Given the description of an element on the screen output the (x, y) to click on. 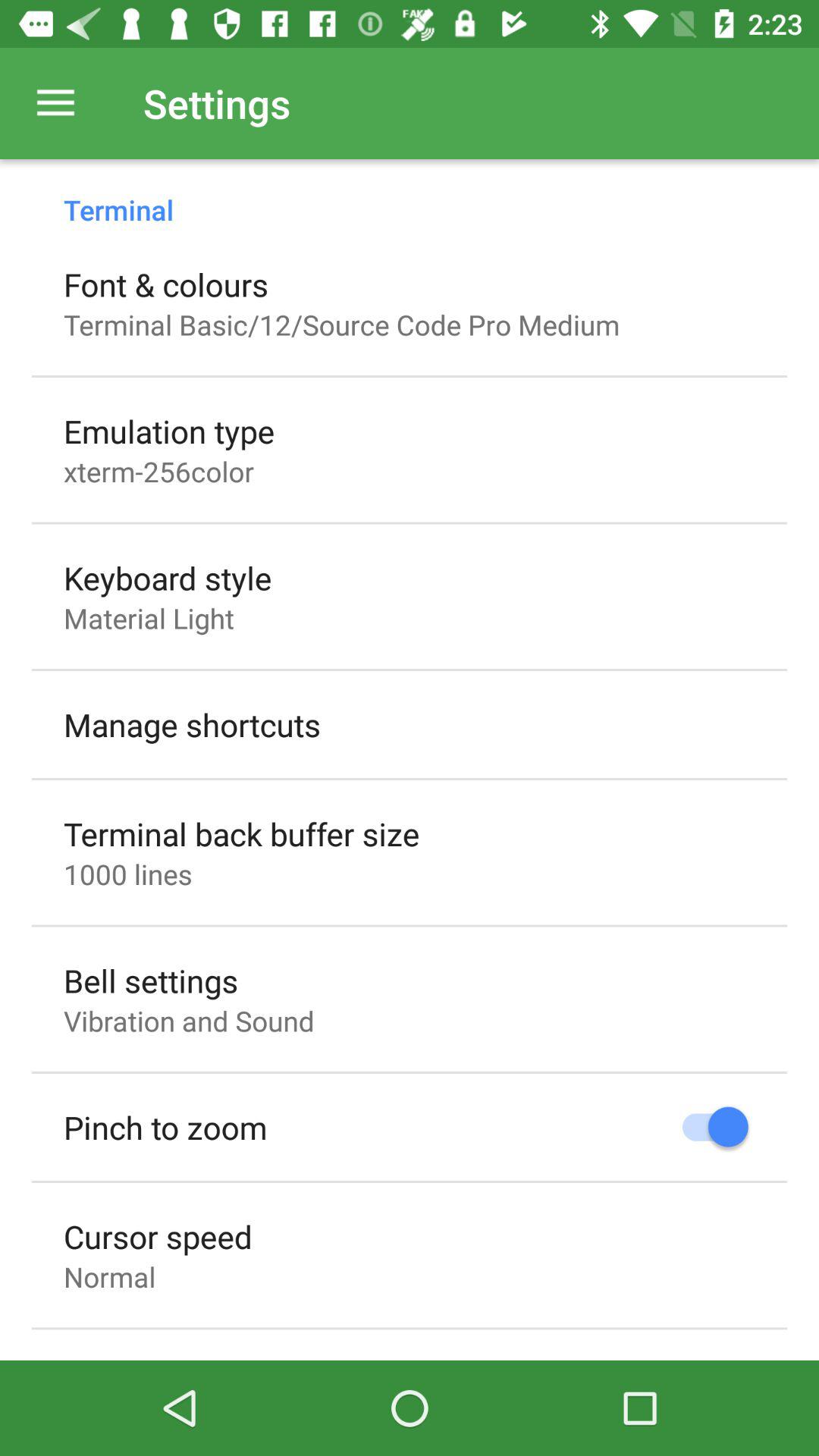
select the icon above the manage shortcuts item (148, 618)
